Given the description of an element on the screen output the (x, y) to click on. 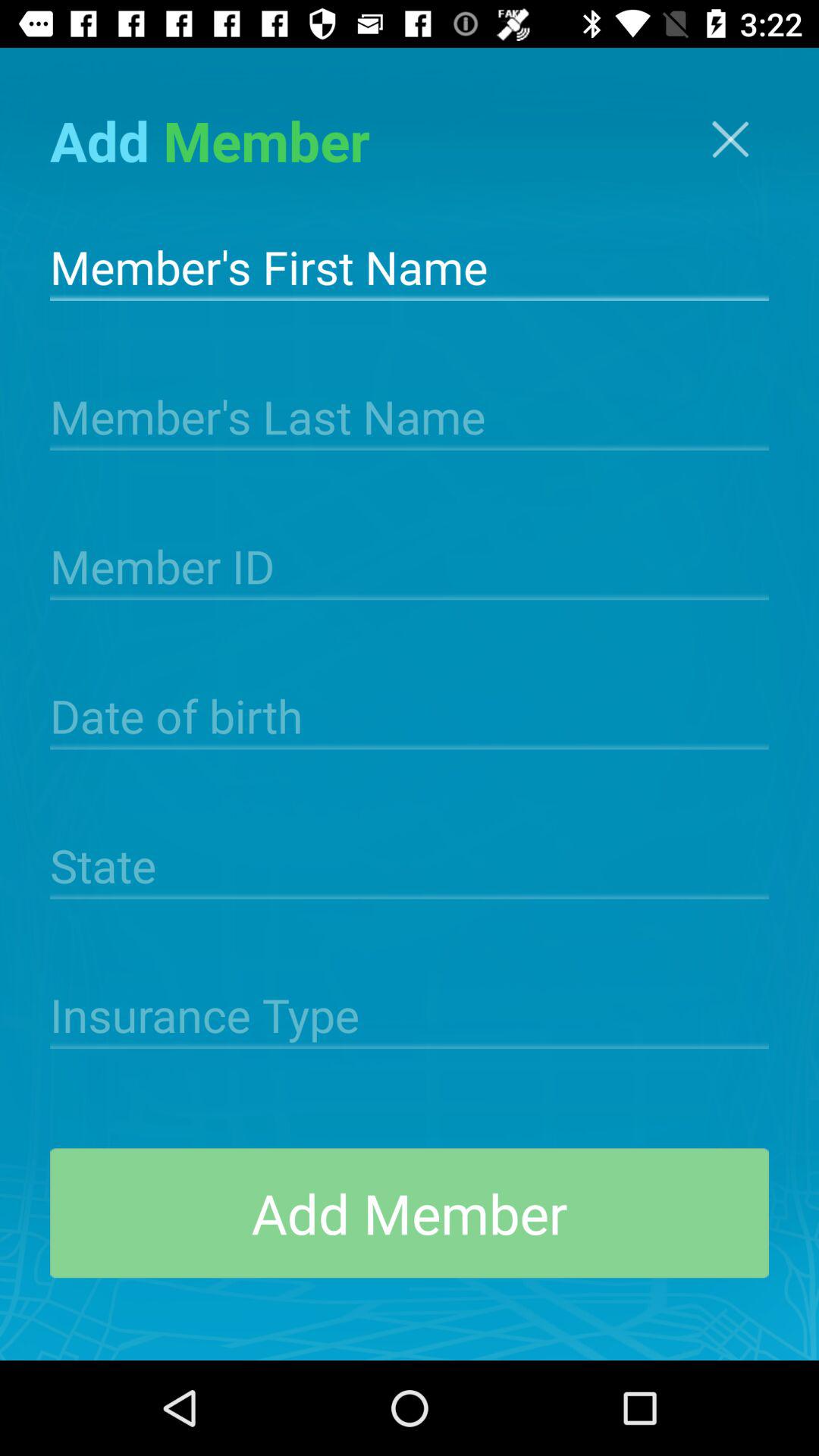
launch item to the right of the add member (730, 139)
